Given the description of an element on the screen output the (x, y) to click on. 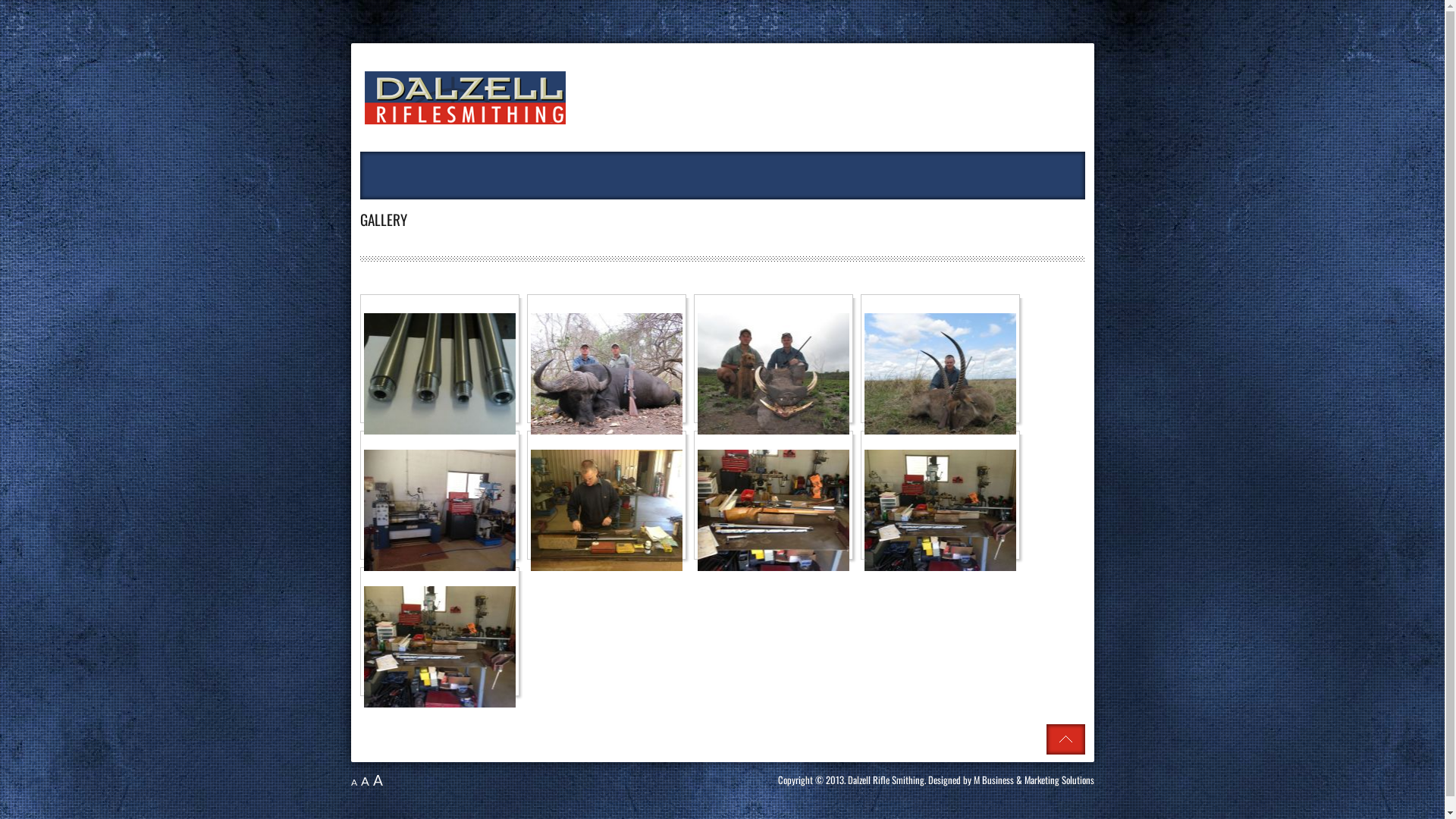
Click to enlarge image IMG_1459.jpg Element type: hover (773, 510)
Click to enlarge image IMG_1458.jpg Element type: hover (606, 510)
Click to enlarge image IMG_0733.jpg Element type: hover (773, 373)
M Business & Marketing Solutions Element type: text (1033, 779)
A Element type: text (353, 781)
Click to enlarge image IMG_1461.jpg Element type: hover (439, 646)
Click to enlarge image IMG_1460.jpg Element type: hover (940, 510)
Click to enlarge image IMG_0642.jpg Element type: hover (606, 373)
A Element type: text (377, 779)
Click to enlarge image IMG_0834.jpg Element type: hover (940, 373)
Click to enlarge image Barrel pic.jpg Element type: hover (439, 373)
Click to enlarge image IMG_1456.jpg Element type: hover (439, 510)
A Element type: text (364, 780)
